Given the description of an element on the screen output the (x, y) to click on. 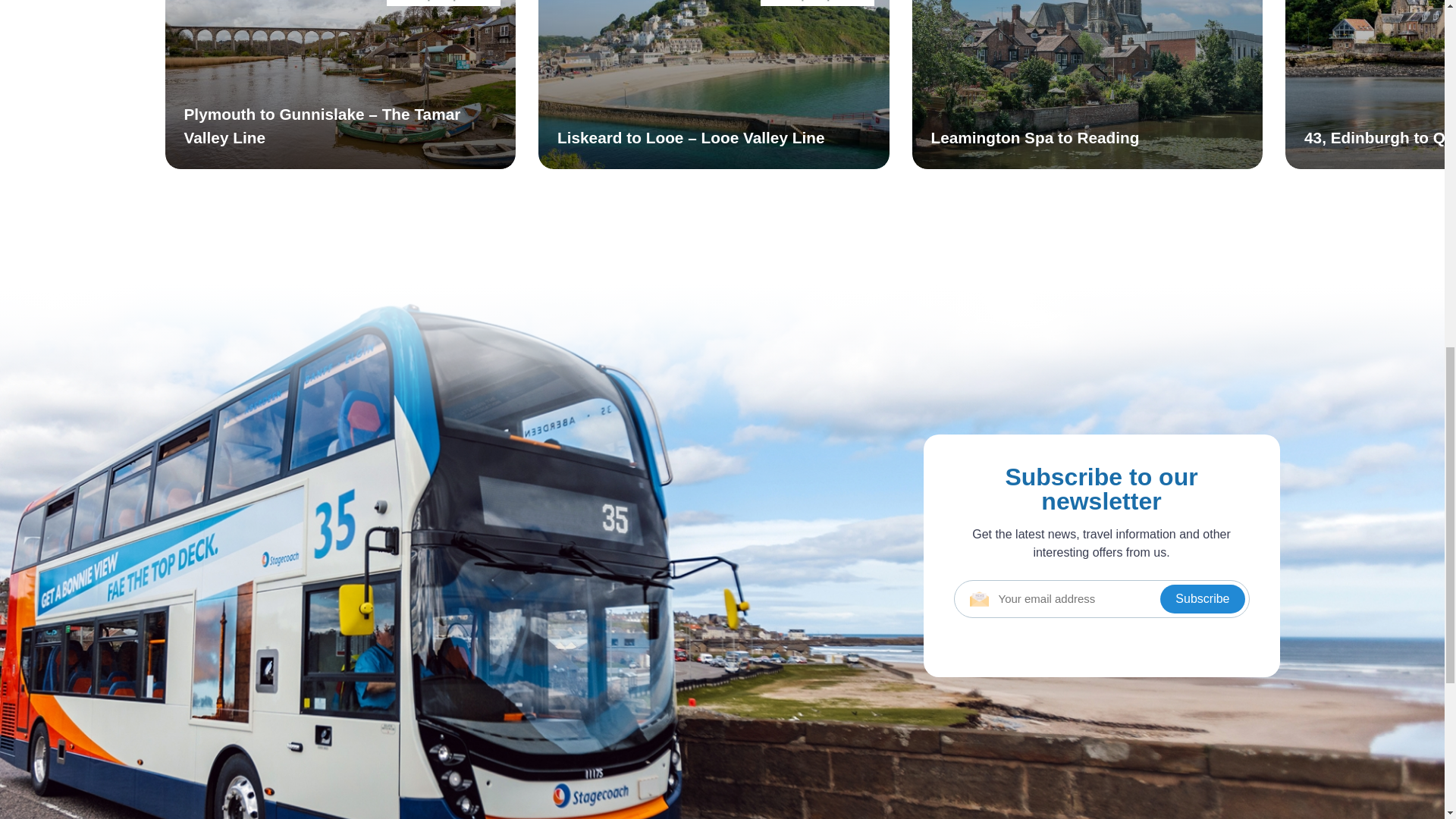
Subscribe (1202, 599)
